Given the description of an element on the screen output the (x, y) to click on. 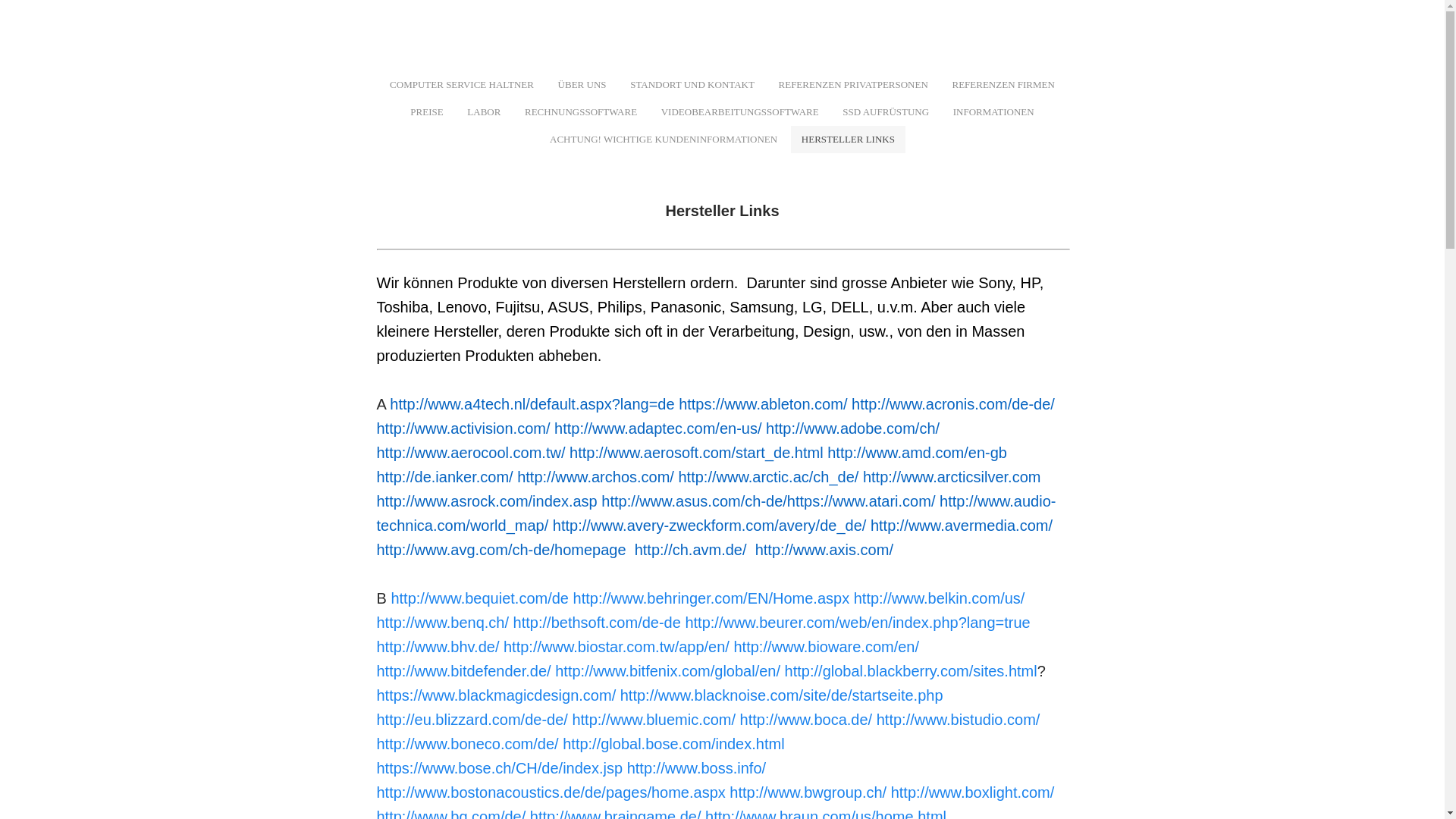
http://www.biostar.com.tw/app/en/ Element type: text (616, 646)
http://www.bwgroup.ch/ Element type: text (807, 792)
LABOR Element type: text (483, 111)
http://global.blackberry.com/sites.html Element type: text (910, 670)
https://www.blackmagicdesign.com/ Element type: text (495, 695)
http://www.boca.de/ Element type: text (806, 719)
REFERENZEN PRIVATPERSONEN Element type: text (853, 84)
http://www.benq.ch/ Element type: text (442, 622)
http://www.belkin.com/us/ Element type: text (939, 597)
http://de.ianker.com/ Element type: text (444, 476)
http://www.bhv.de/ Element type: text (437, 646)
http://www.activision.com/ Element type: text (462, 428)
http://ch.avm.de/ Element type: text (690, 549)
http://www.bioware.com/en/ Element type: text (826, 646)
http://www.avg.com/ch-de/homepage Element type: text (500, 549)
http://www.boss.info/ Element type: text (696, 767)
https://www.bose.ch/CH/de/index.jsp Element type: text (499, 767)
STANDORT UND KONTAKT Element type: text (692, 84)
HERSTELLER LINKS Element type: text (847, 139)
http://www.audio-technica.com/world_map/ Element type: text (715, 512)
http://www.behringer.com/EN/Home.aspx Element type: text (711, 597)
http://global.bose.com/index.html Element type: text (673, 743)
http://www.boxlight.com/ Element type: text (972, 792)
http://www.boneco.com/de/ Element type: text (467, 743)
http://www.axis.com/ Element type: text (824, 549)
http://www.acronis.com/de-de/ Element type: text (952, 403)
http://www.aerocool.com.tw/ Element type: text (470, 452)
http://www.bitfenix.com/global/en/ Element type: text (667, 670)
http://www.blacknoise.com/site/de/startseite.php Element type: text (781, 695)
PREISE Element type: text (426, 111)
https://www.ableton.com/ Element type: text (762, 403)
http://www.amd.com/en-gb Element type: text (917, 452)
ACHTUNG! WICHTIGE KUNDENINFORMATIONEN Element type: text (663, 139)
http://www.archos.com/ Element type: text (595, 476)
http://www.asrock.com/index.asp Element type: text (486, 500)
http://www.adobe.com/ch/ Element type: text (852, 428)
http://www.bistudio.com/ Element type: text (958, 719)
COMPUTER SERVICE HALTNER Element type: text (461, 84)
VIDEOBEARBEITUNGSSOFTWARE Element type: text (739, 111)
http://www.bostonacoustics.de/de/pages/home.aspx Element type: text (550, 792)
http://www.arctic.ac/ch_de/ Element type: text (767, 476)
RECHNUNGSSOFTWARE Element type: text (580, 111)
http://www.bluemic.com/ Element type: text (653, 719)
INFORMATIONEN Element type: text (993, 111)
https://www.atari.com/ Element type: text (861, 500)
http://www.bequiet.com/de Element type: text (479, 597)
http://www.avery-zweckform.com/avery/de_de/ Element type: text (709, 525)
http://www.avermedia.com/ Element type: text (961, 525)
http://eu.blizzard.com/de-de/ Element type: text (471, 719)
http://www.arcticsilver.com Element type: text (951, 476)
REFERENZEN FIRMEN Element type: text (1002, 84)
http://bethsoft.com/de-de Element type: text (596, 622)
http://www.bitdefender.de/ Element type: text (463, 670)
http://www.a4tech.nl/default.aspx?lang=de Element type: text (531, 403)
http://www.adaptec.com/en-us/ Element type: text (657, 428)
http://www.beurer.com/web/en/index.php?lang=true Element type: text (856, 622)
